Given the description of an element on the screen output the (x, y) to click on. 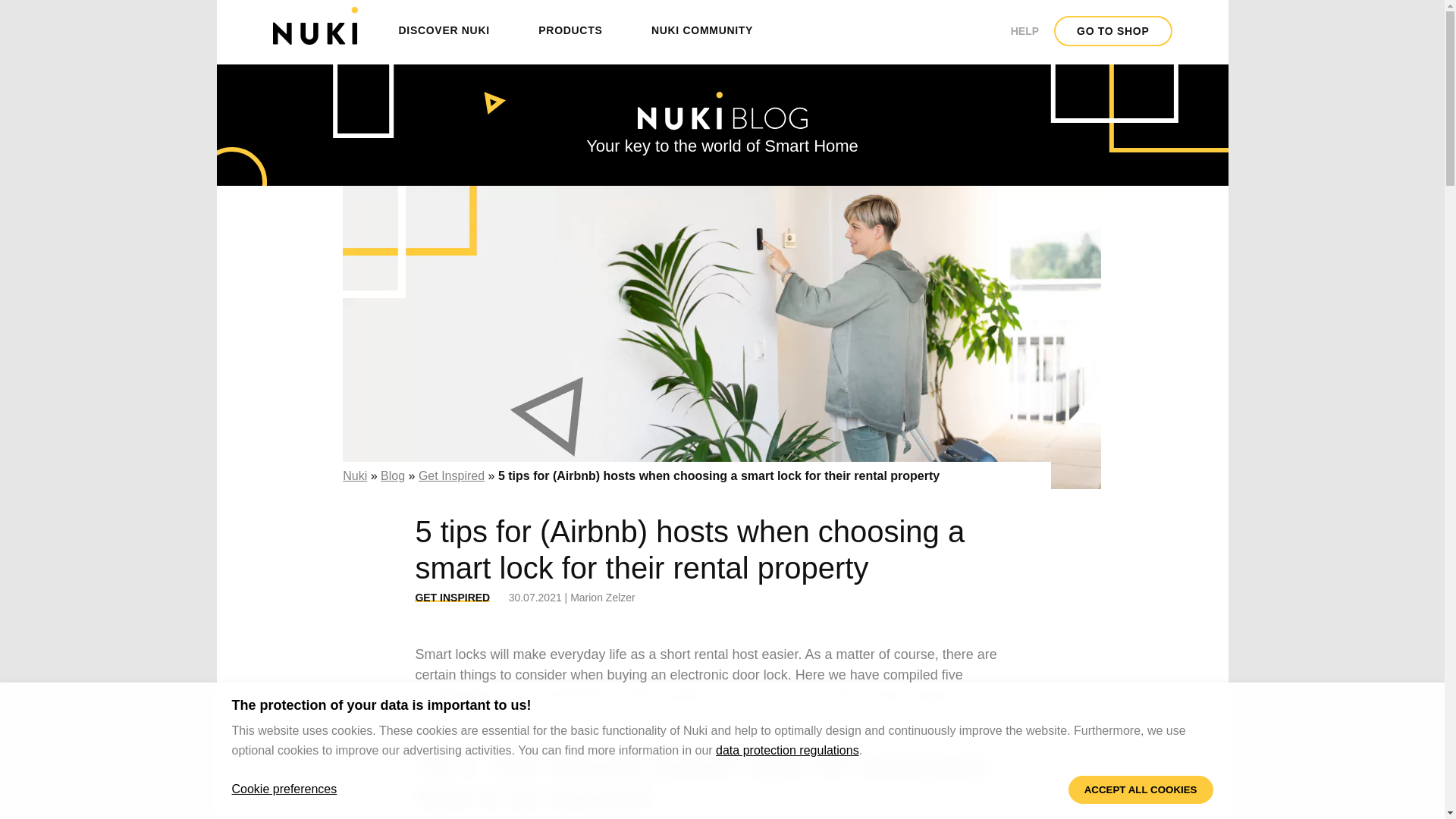
PRODUCTS (569, 30)
GO TO SHOP (1113, 30)
DISCOVER NUKI (443, 30)
Welcome home (315, 25)
NUKI COMMUNITY (702, 30)
